Given the description of an element on the screen output the (x, y) to click on. 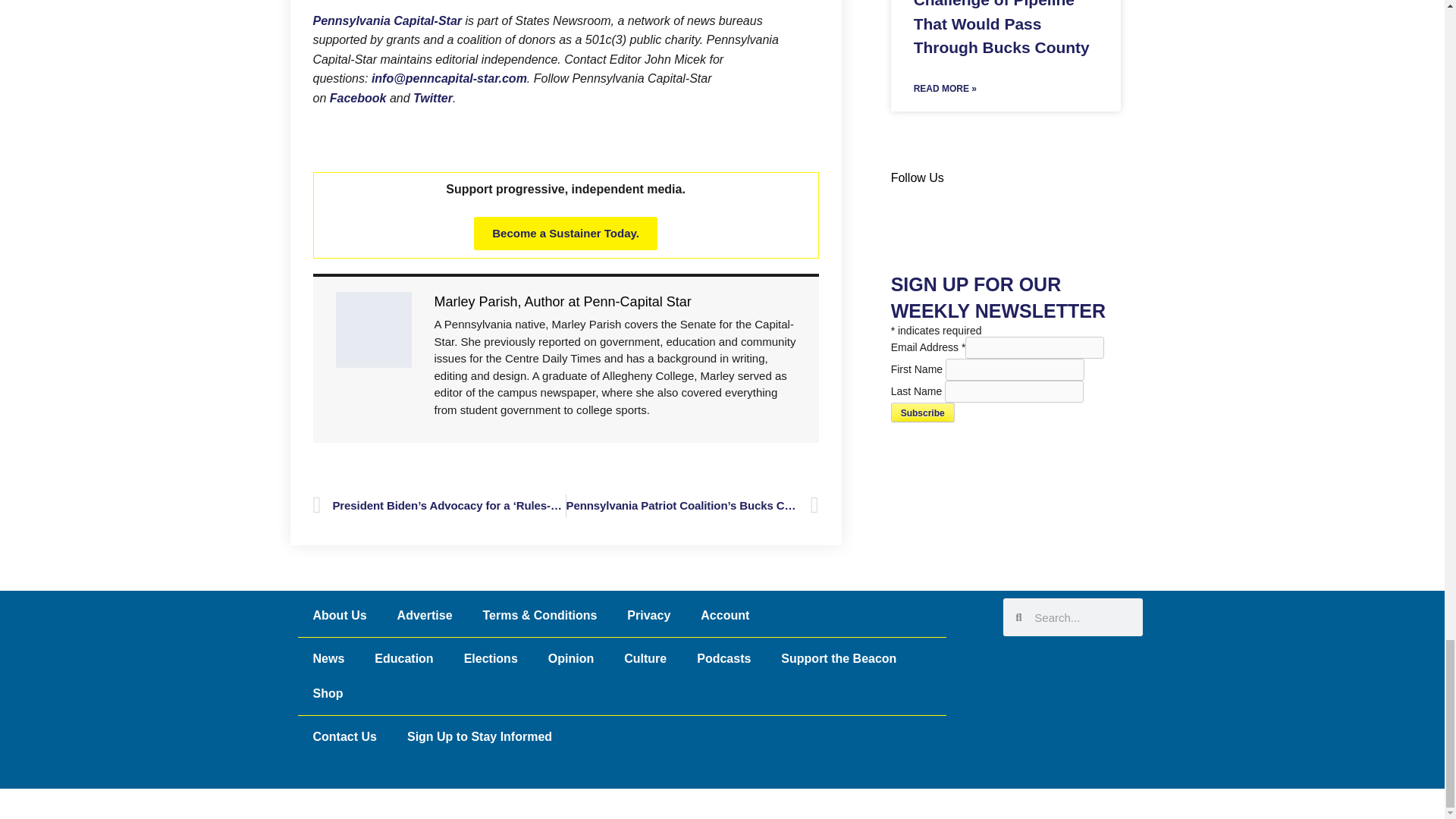
Subscribe (923, 412)
